Given the description of an element on the screen output the (x, y) to click on. 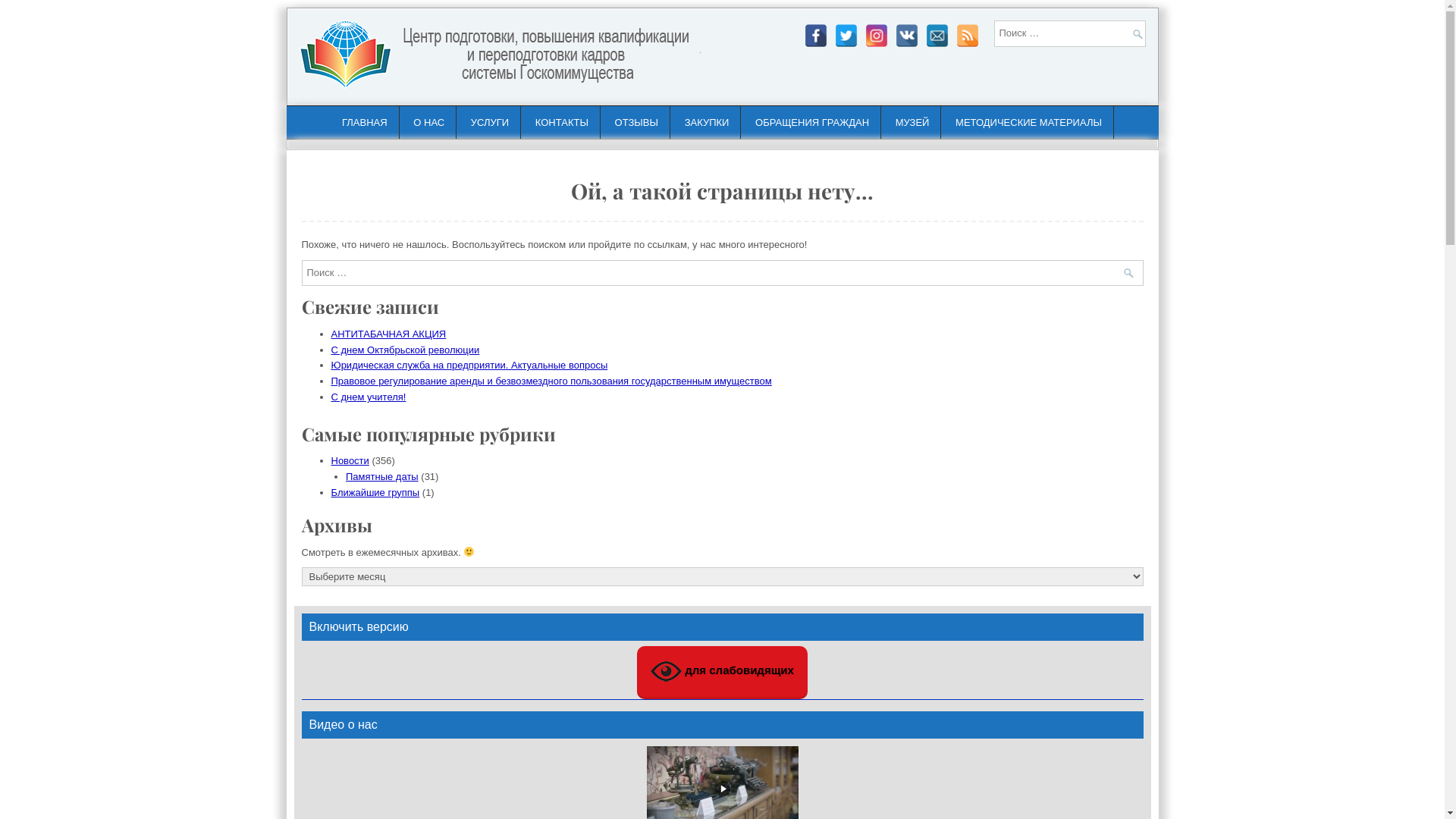
RSS Feed Element type: hover (966, 35)
Instagram Element type: hover (875, 35)
Facebook Element type: hover (814, 35)
VKontakte Element type: hover (905, 35)
Twitter Element type: hover (845, 35)
Email Element type: hover (936, 35)
